Given the description of an element on the screen output the (x, y) to click on. 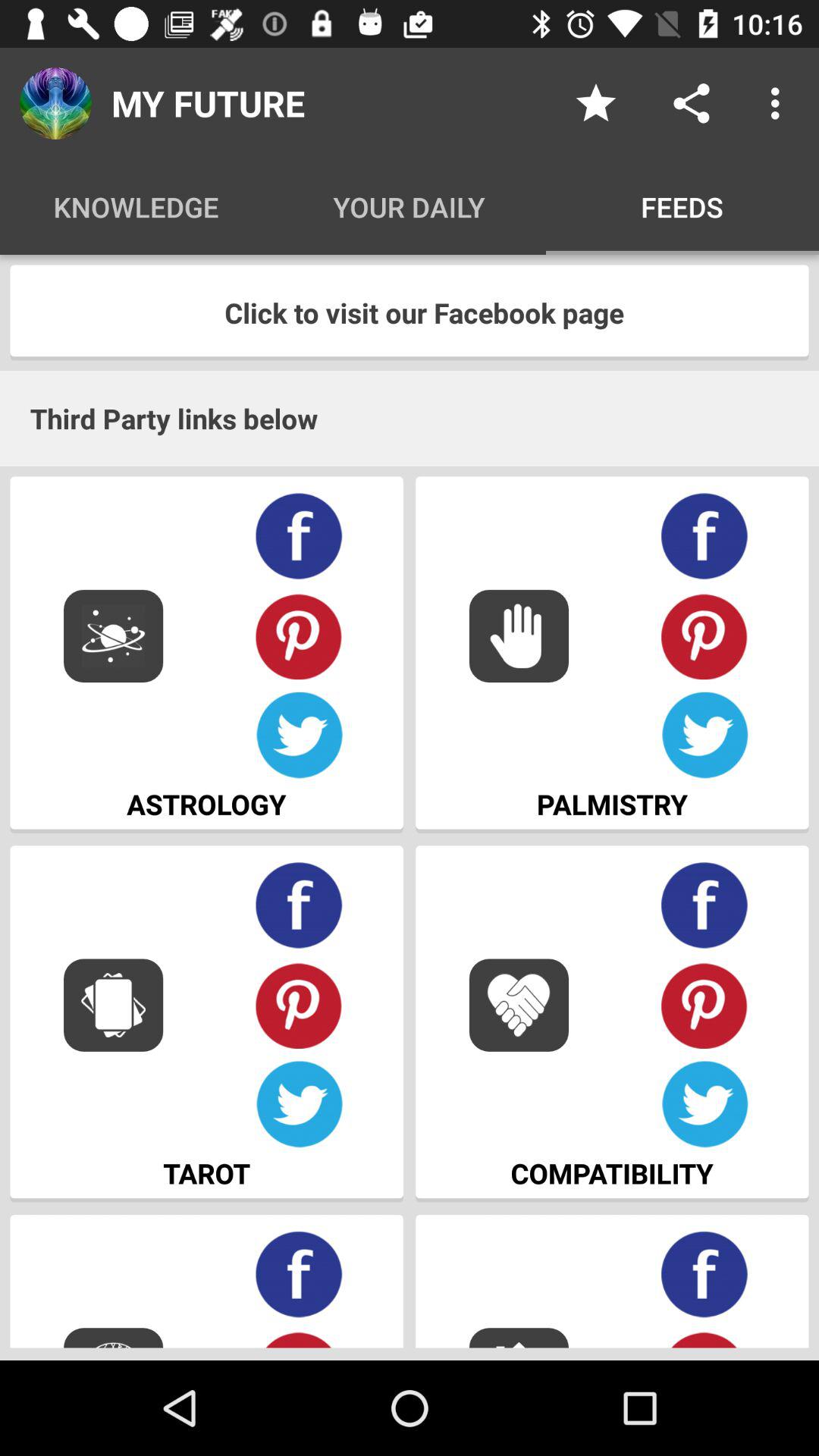
share on twitter (299, 1104)
